Given the description of an element on the screen output the (x, y) to click on. 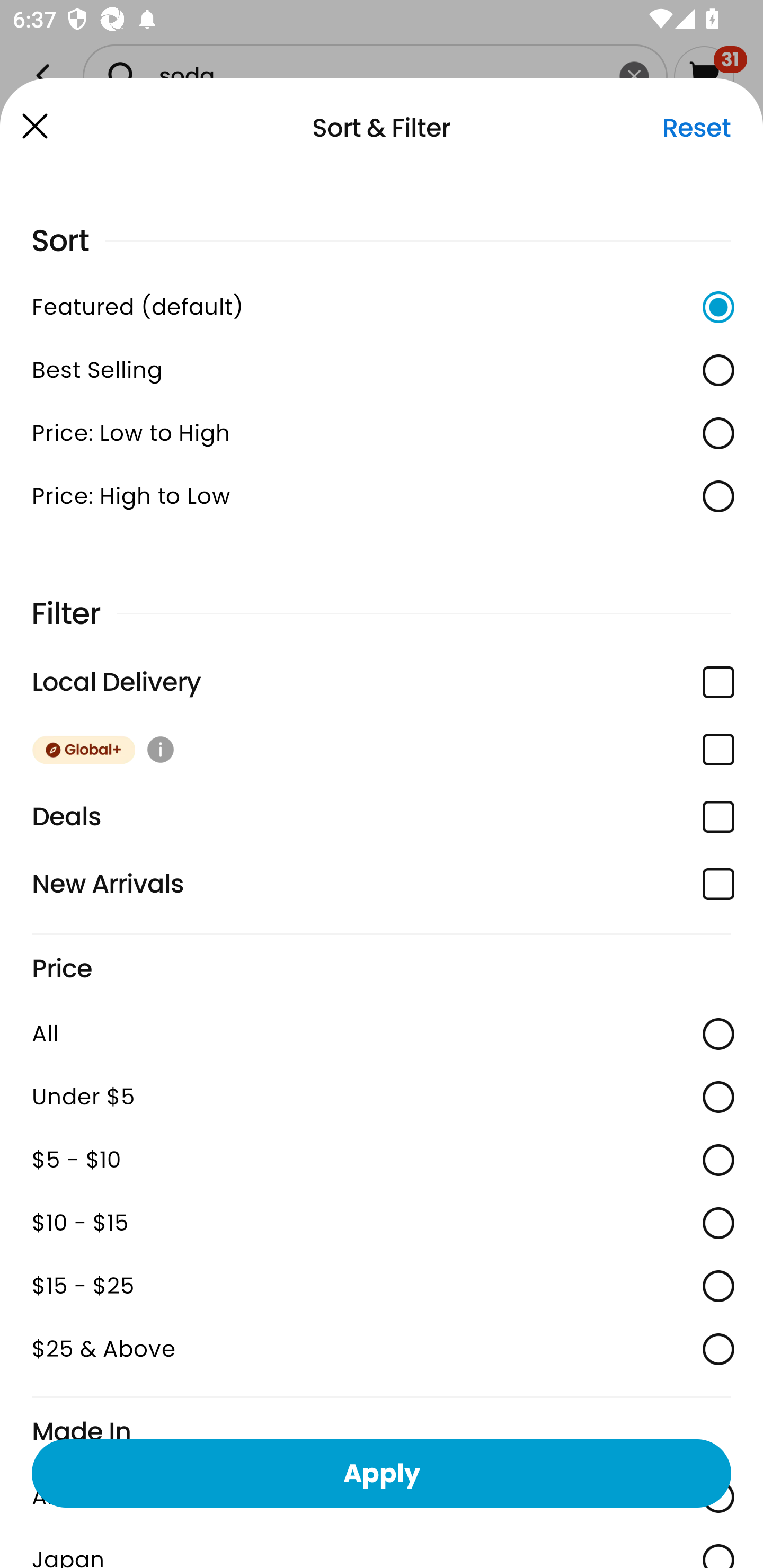
Reset (696, 127)
Apply (381, 1472)
